Given the description of an element on the screen output the (x, y) to click on. 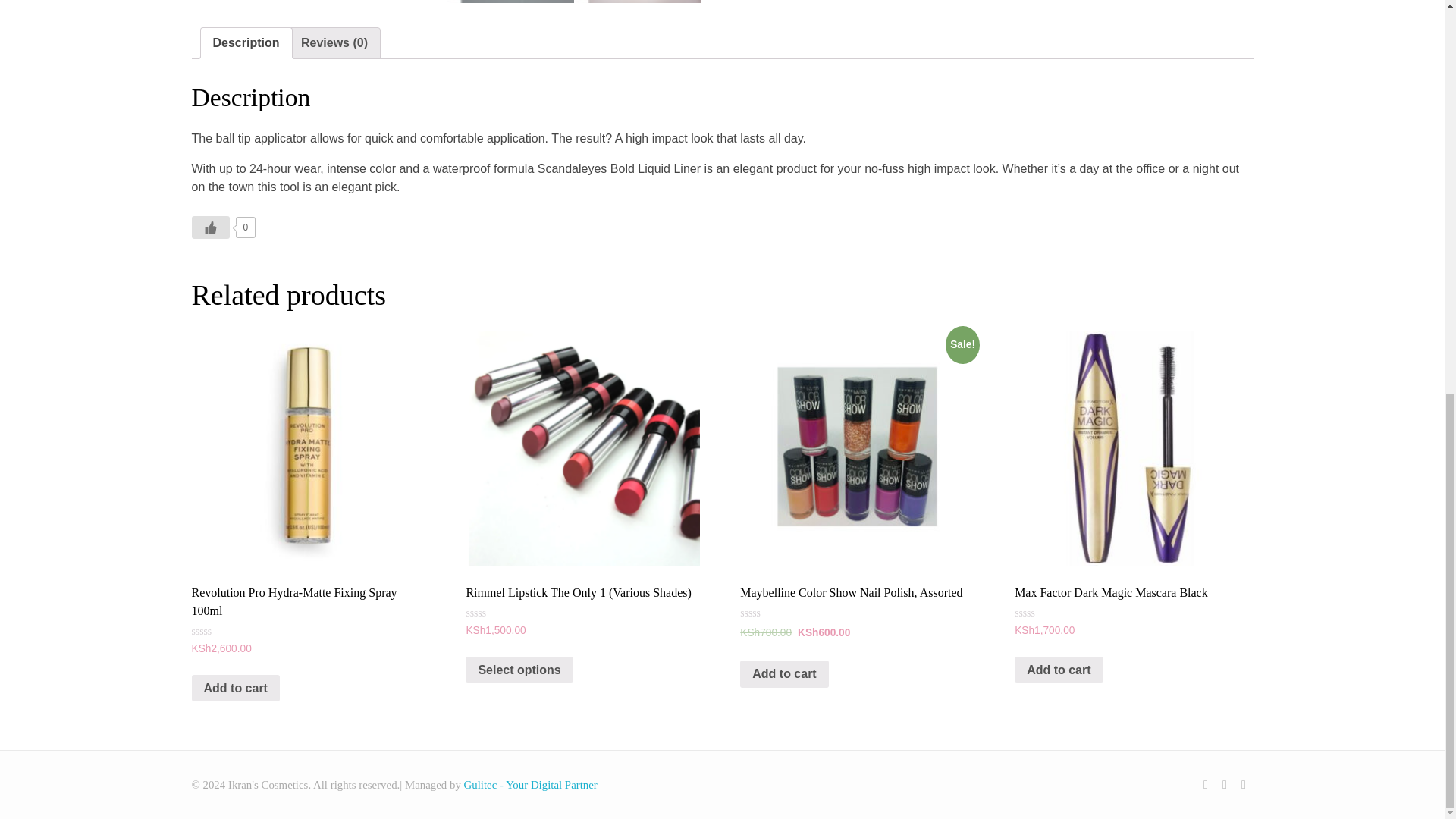
Add to cart (234, 687)
Description (245, 42)
Select options (518, 669)
